Given the description of an element on the screen output the (x, y) to click on. 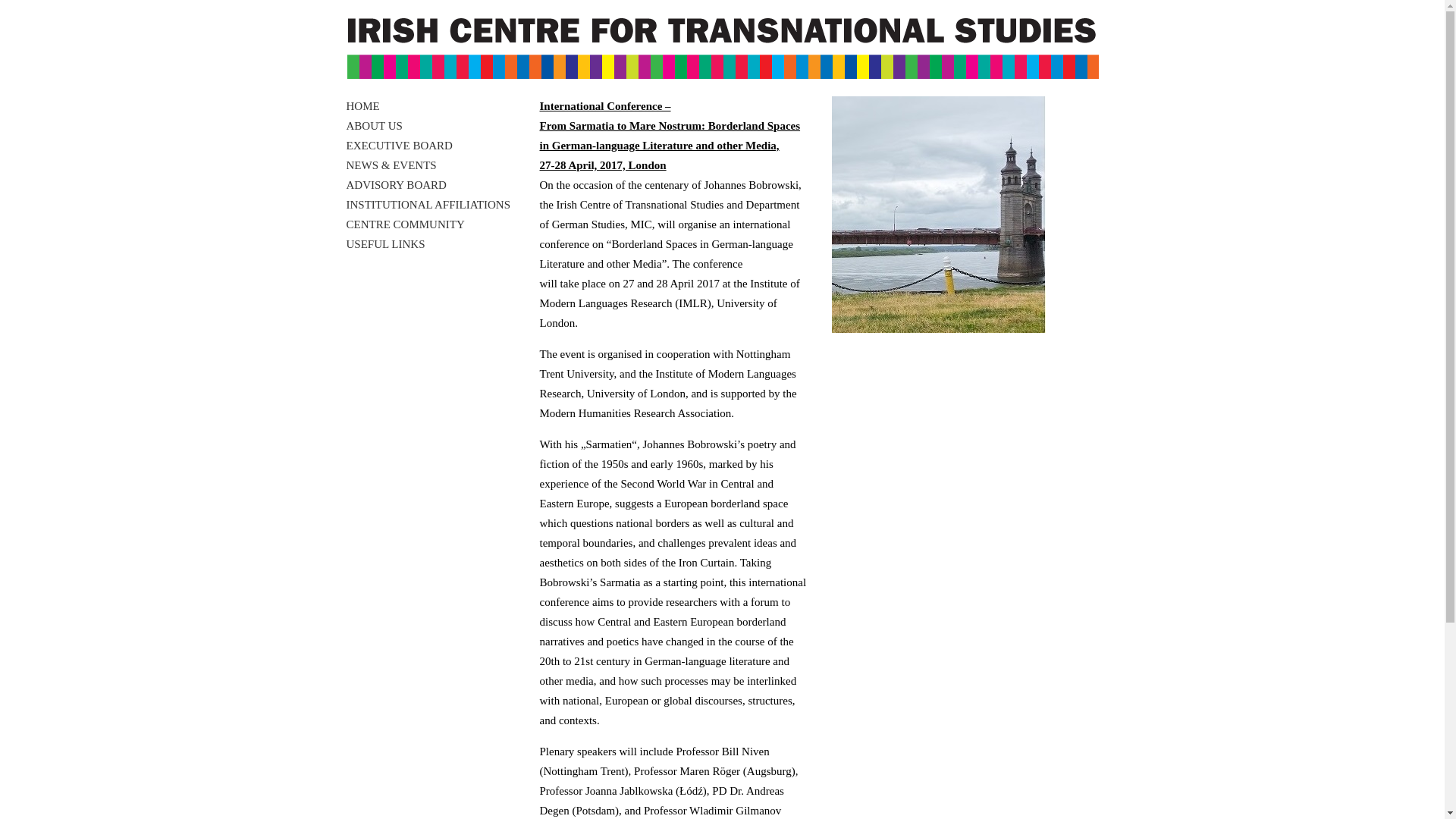
USEFUL LINKS (385, 244)
CENTRE COMMUNITY (405, 224)
ABOUT US (373, 125)
ADVISORY BOARD (395, 184)
INSTITUTIONAL AFFILIATIONS (428, 204)
EXECUTIVE BOARD (398, 145)
HOME (362, 105)
